Given the description of an element on the screen output the (x, y) to click on. 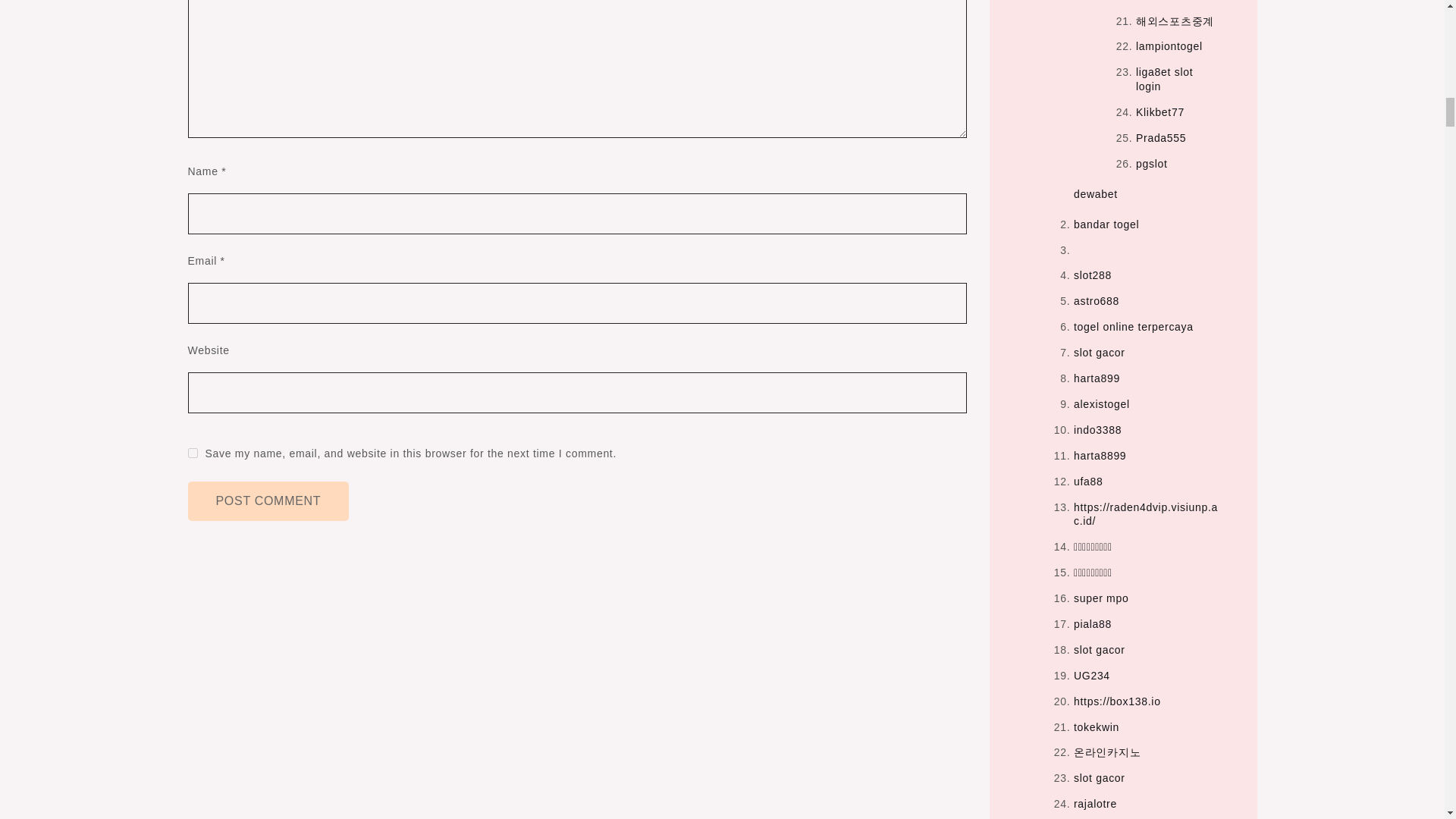
Post Comment (268, 500)
yes (192, 452)
Post Comment (268, 500)
